Given the description of an element on the screen output the (x, y) to click on. 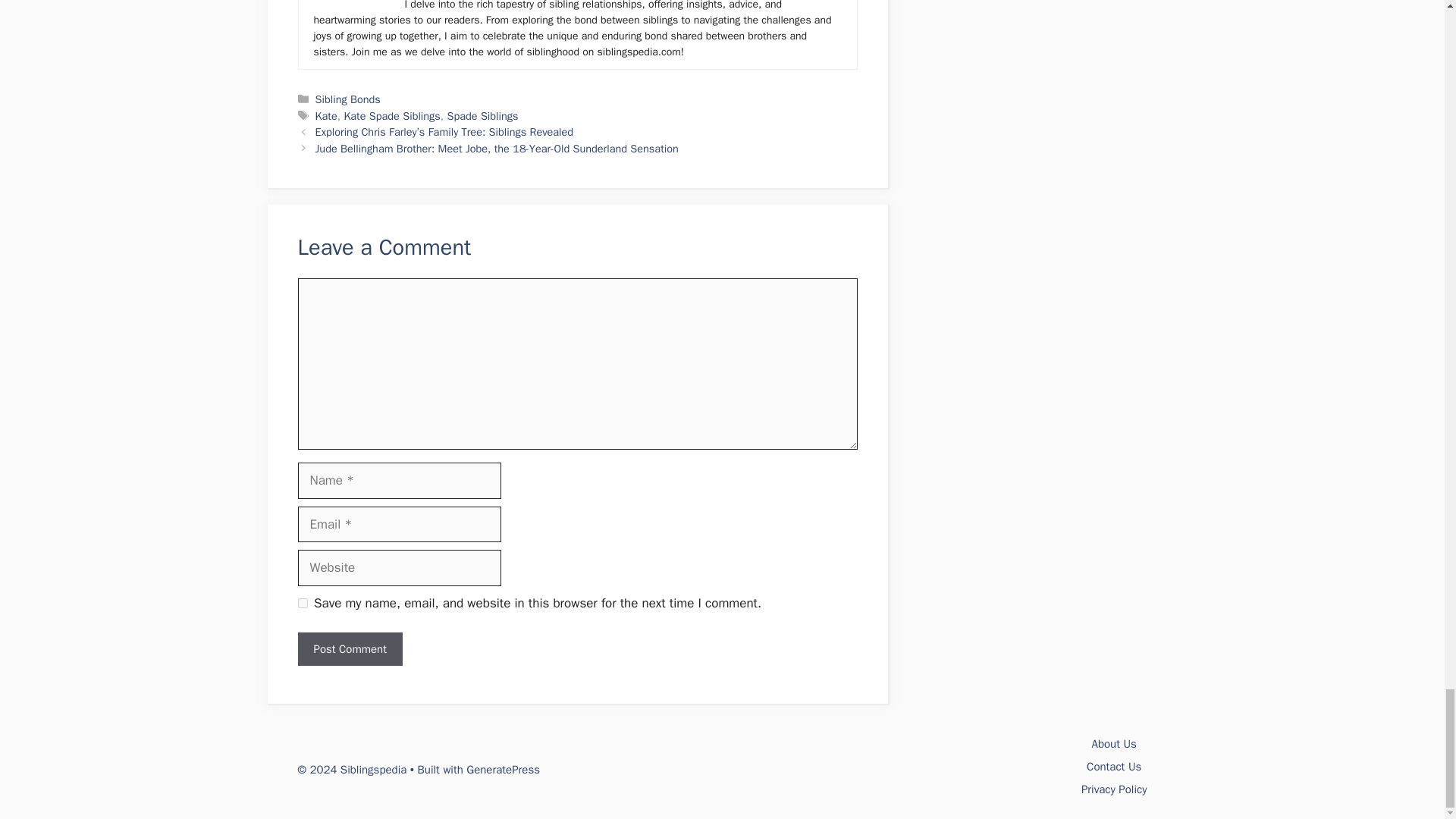
yes (302, 603)
Post Comment (349, 649)
Kate (326, 115)
Spade Siblings (482, 115)
Kate Spade Siblings (391, 115)
Sibling Bonds (347, 99)
Post Comment (349, 649)
